Given the description of an element on the screen output the (x, y) to click on. 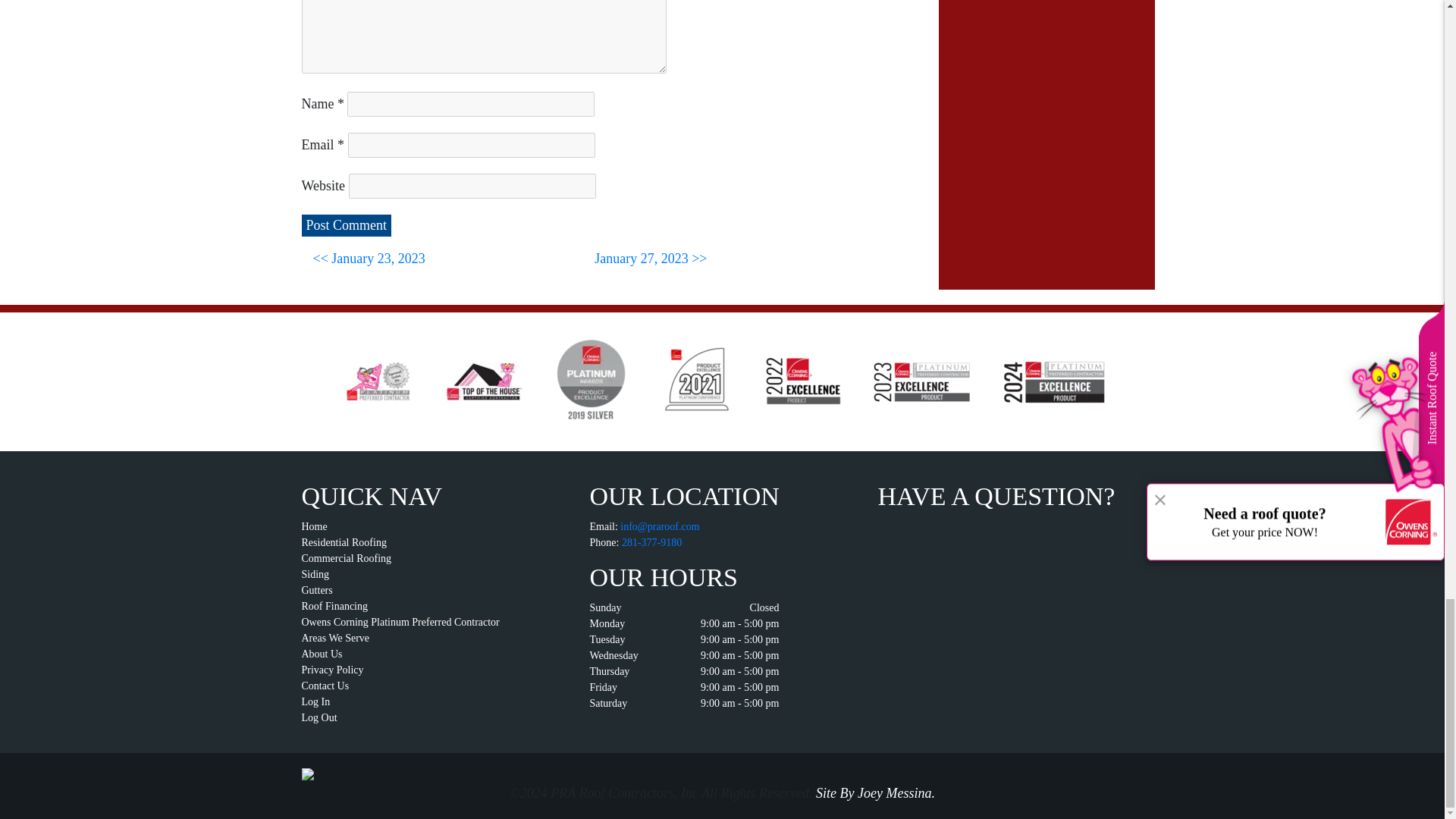
Post Comment (346, 225)
Post Comment (346, 225)
